Given the description of an element on the screen output the (x, y) to click on. 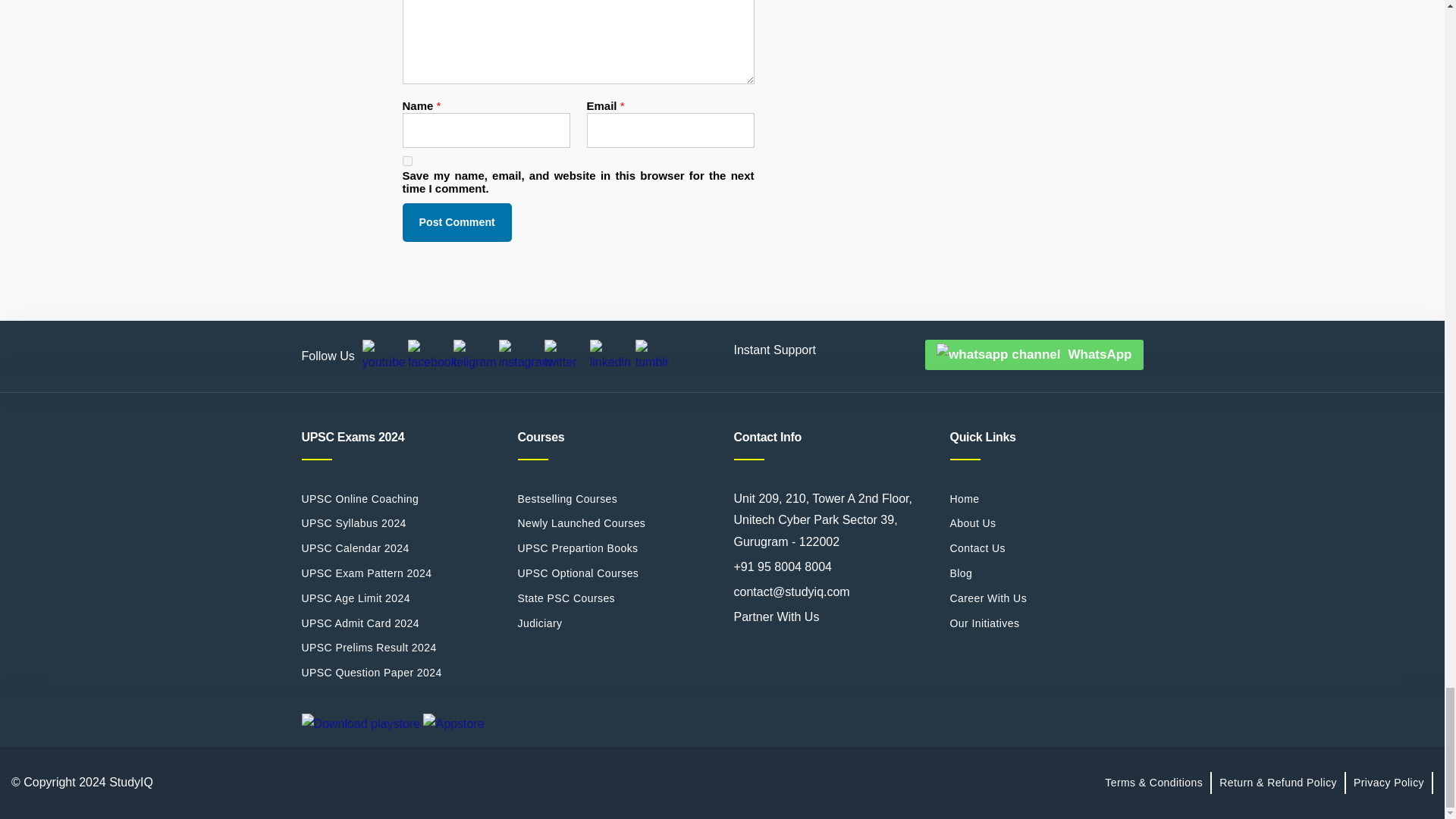
Post Comment (456, 222)
yes (406, 161)
